Given the description of an element on the screen output the (x, y) to click on. 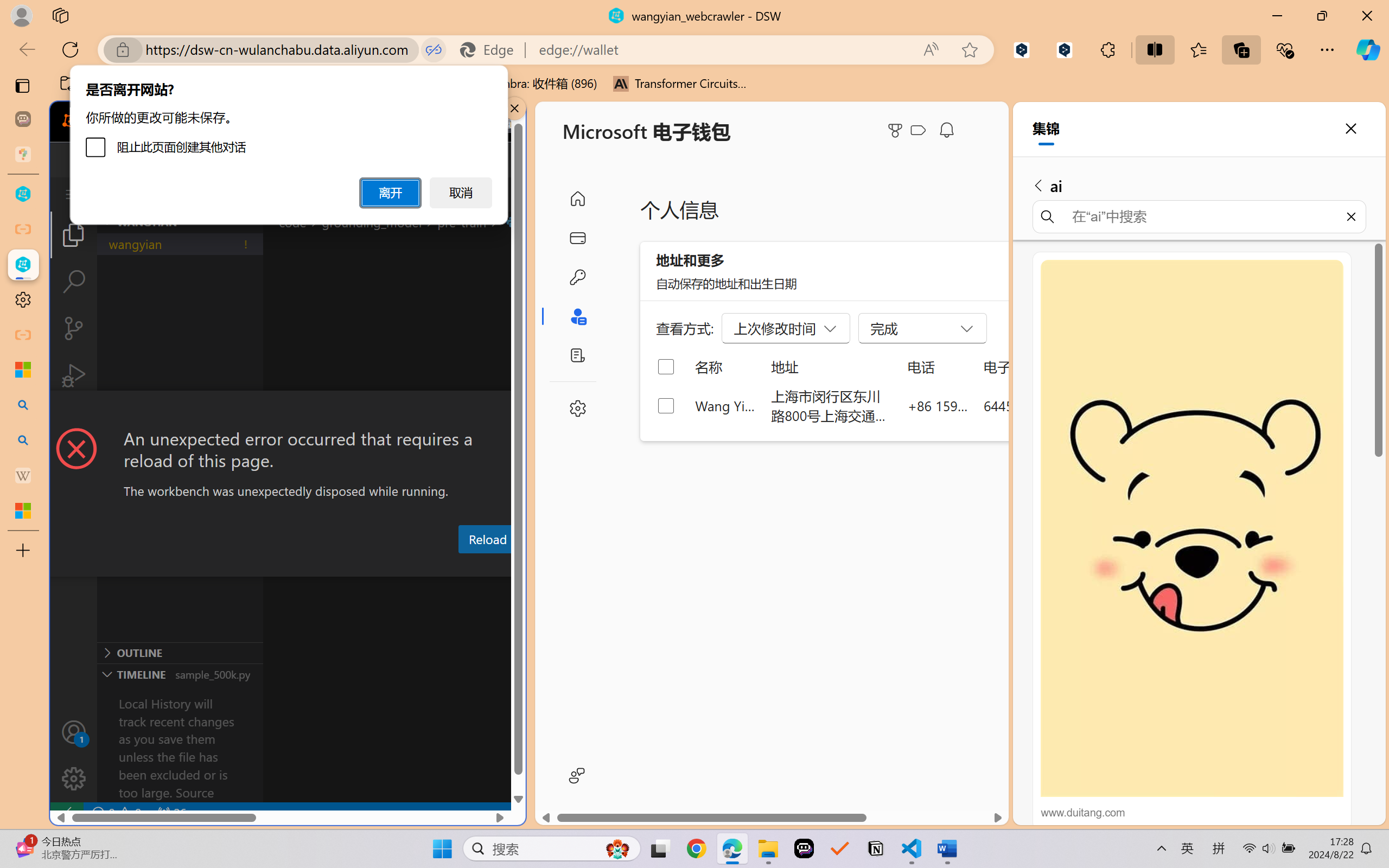
Microsoft Cashback (920, 130)
Close Dialog (520, 410)
No Problems (115, 812)
Accounts - Sign in requested (73, 732)
